Given the description of an element on the screen output the (x, y) to click on. 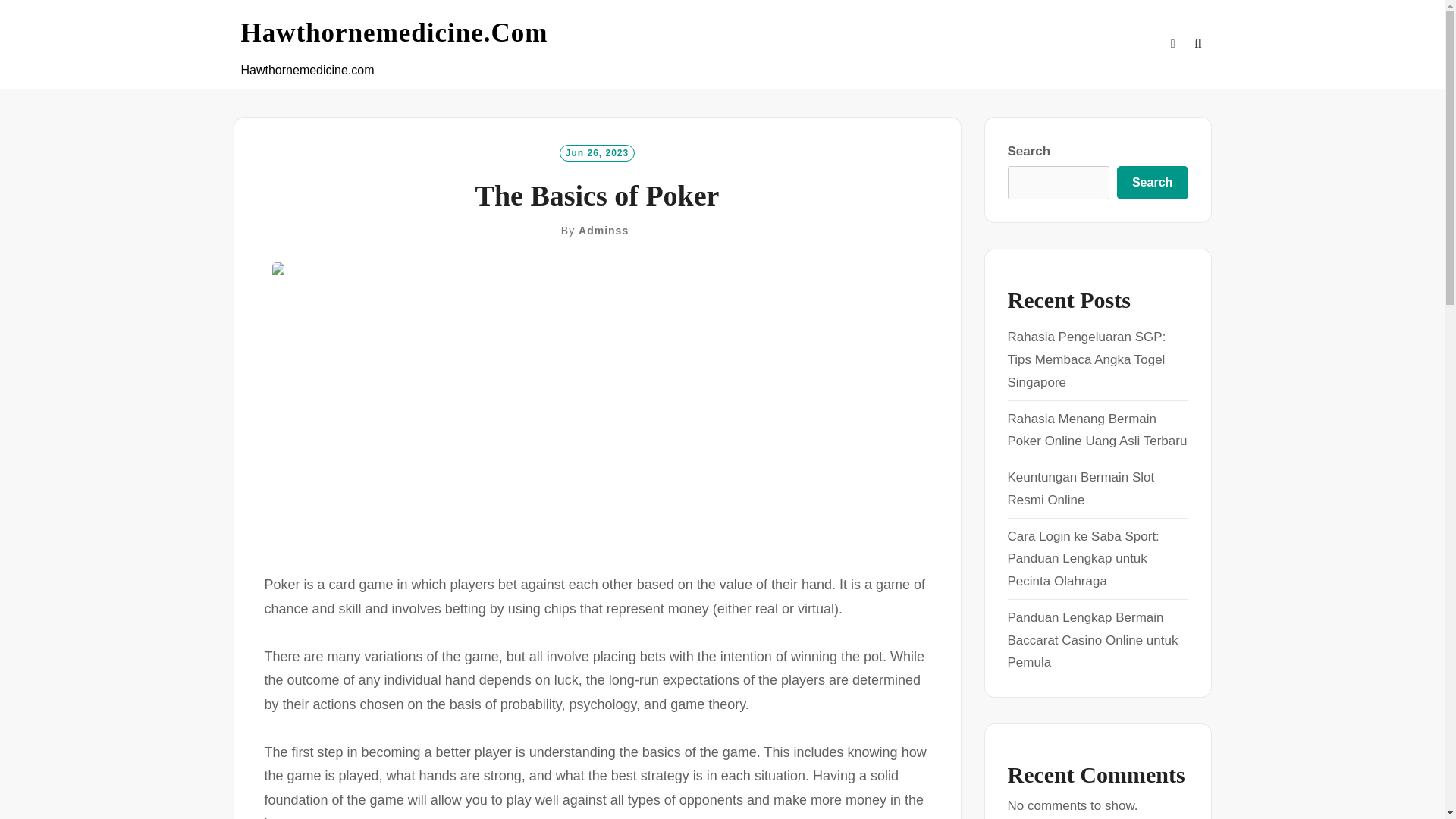
Jun 26, 2023 (596, 152)
Search (1152, 182)
Panduan Lengkap Bermain Baccarat Casino Online untuk Pemula (1092, 640)
Hawthornemedicine.Com (394, 33)
Adminss (603, 230)
Rahasia Menang Bermain Poker Online Uang Asli Terbaru (1096, 429)
Rahasia Pengeluaran SGP: Tips Membaca Angka Togel Singapore (1086, 359)
Search (730, 427)
Keuntungan Bermain Slot Resmi Online (1080, 488)
